Given the description of an element on the screen output the (x, y) to click on. 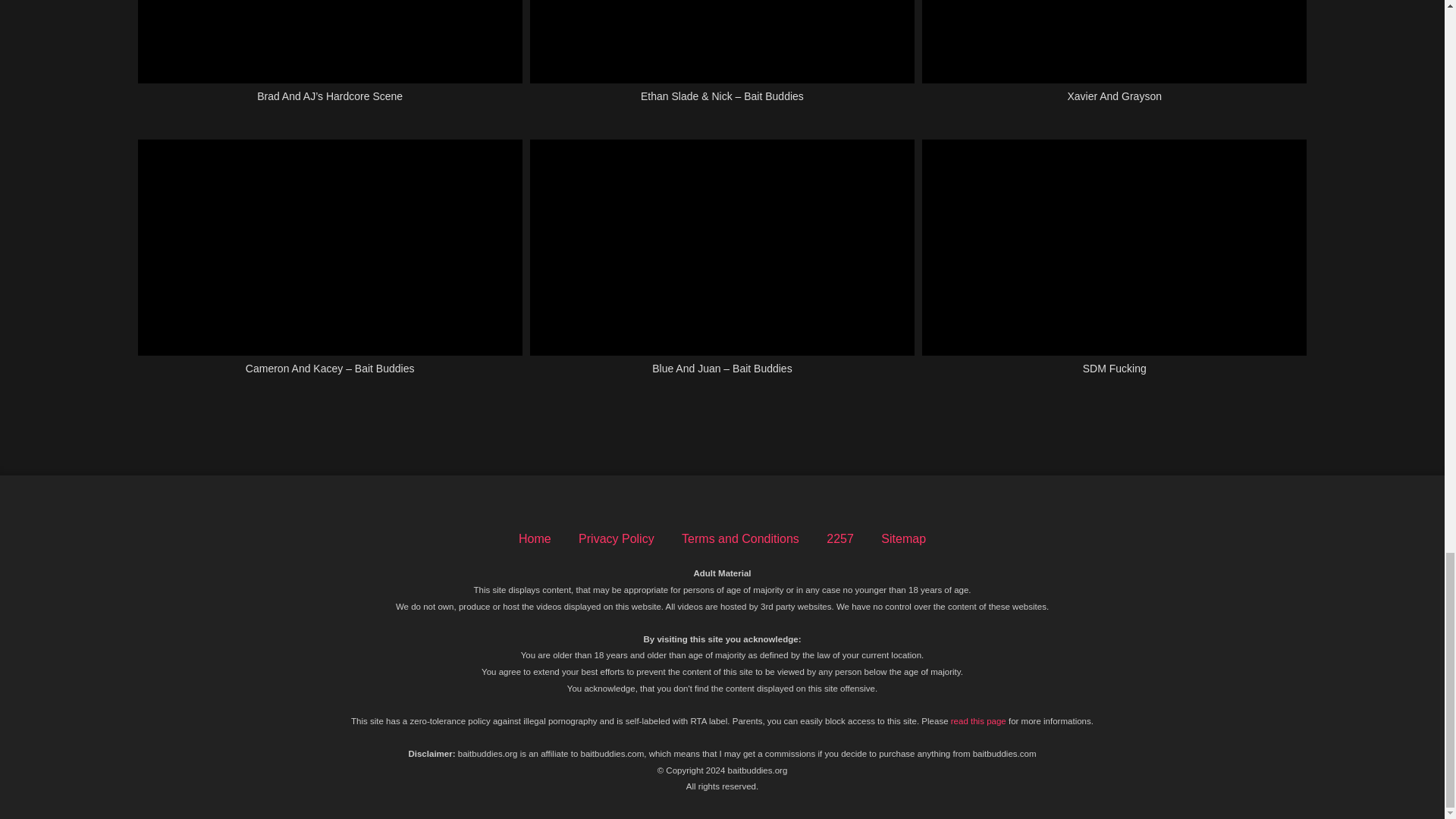
Sitemap (903, 538)
read this page (978, 720)
SDM Fucking (1113, 266)
Xavier And Grayson (1113, 59)
Terms and Conditions (740, 538)
2257 (840, 538)
Privacy Policy (615, 538)
Home (534, 538)
Xavier And Grayson (1113, 59)
SDM Fucking (1113, 266)
